Given the description of an element on the screen output the (x, y) to click on. 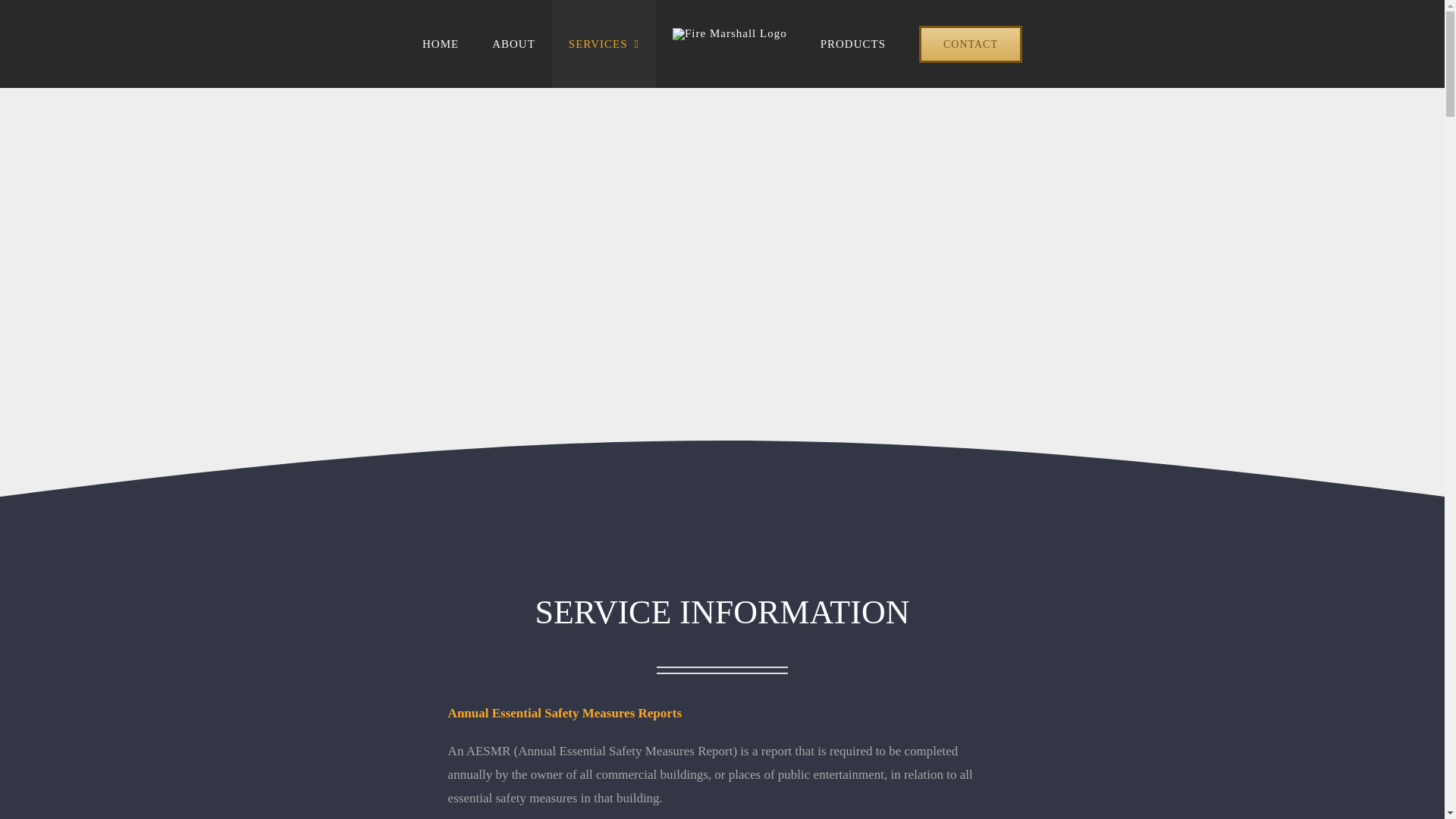
PRODUCTS (852, 43)
CONTACT (970, 43)
SERVICES (603, 43)
